Given the description of an element on the screen output the (x, y) to click on. 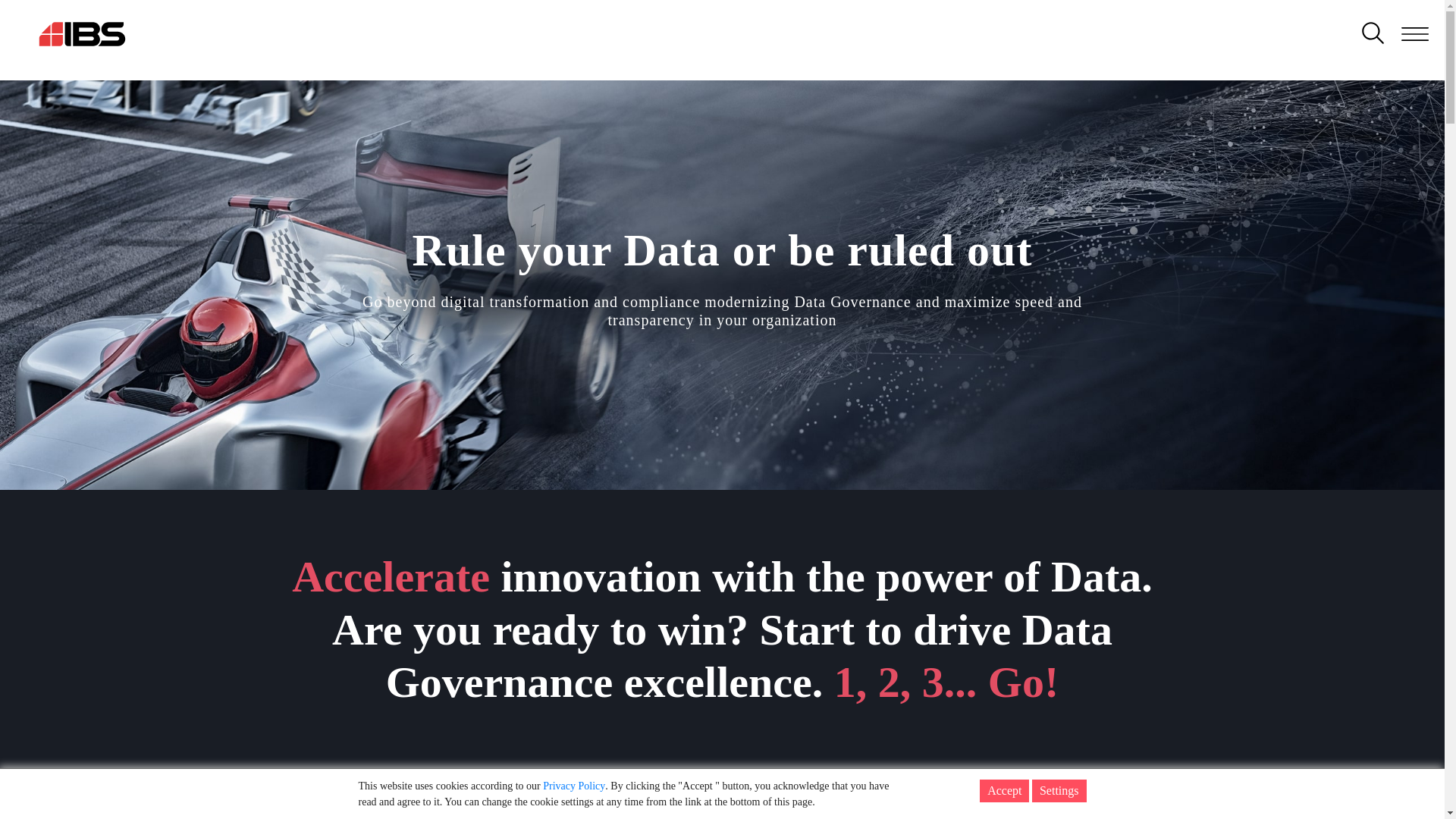
Settings (1059, 790)
Accept (1004, 790)
Display Navigation (108, 37)
